Given the description of an element on the screen output the (x, y) to click on. 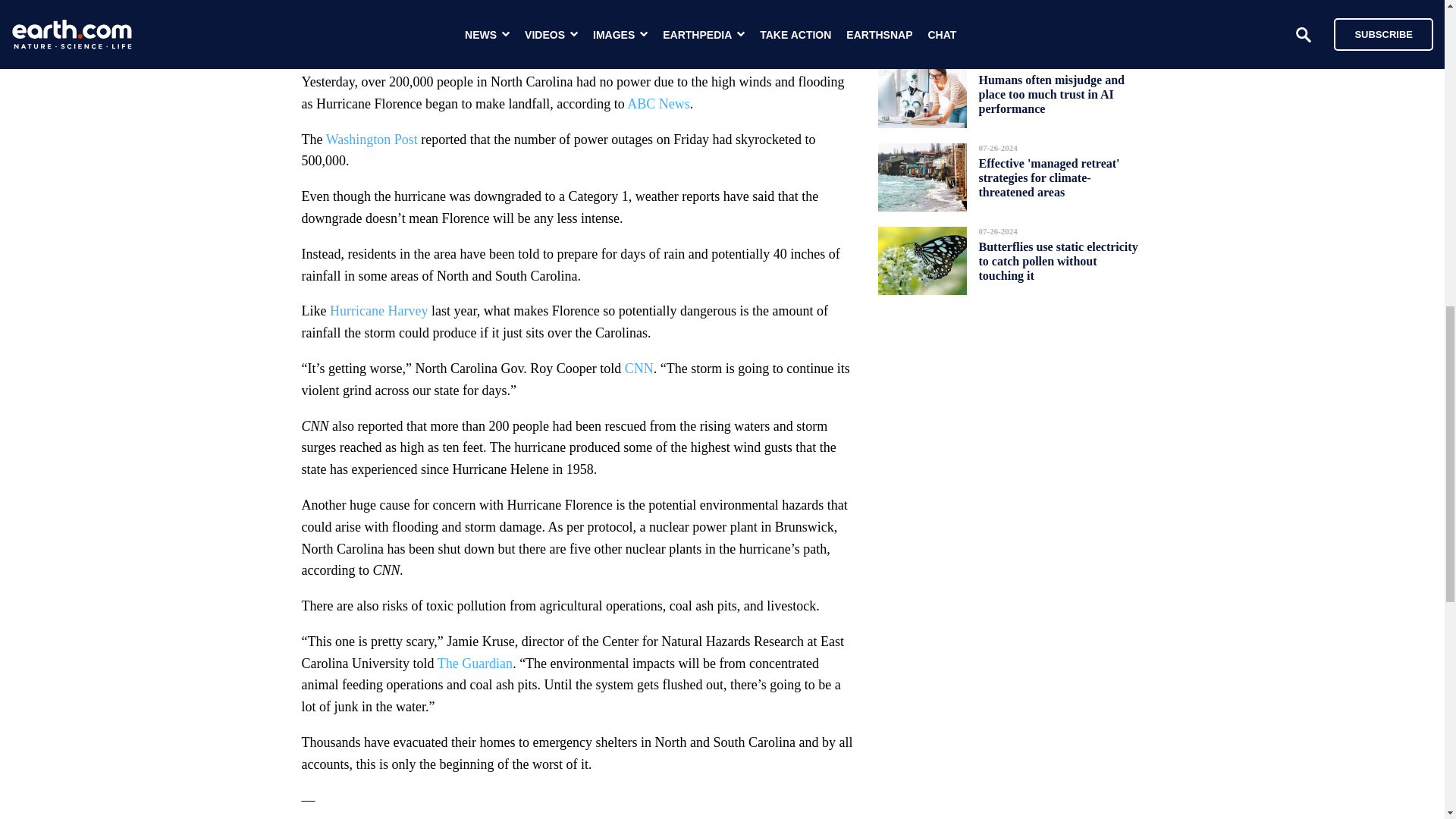
CNN (638, 368)
ABC News (658, 103)
Washington Post (371, 139)
The Guardian (475, 663)
Hurricane Harvey (379, 310)
